Given the description of an element on the screen output the (x, y) to click on. 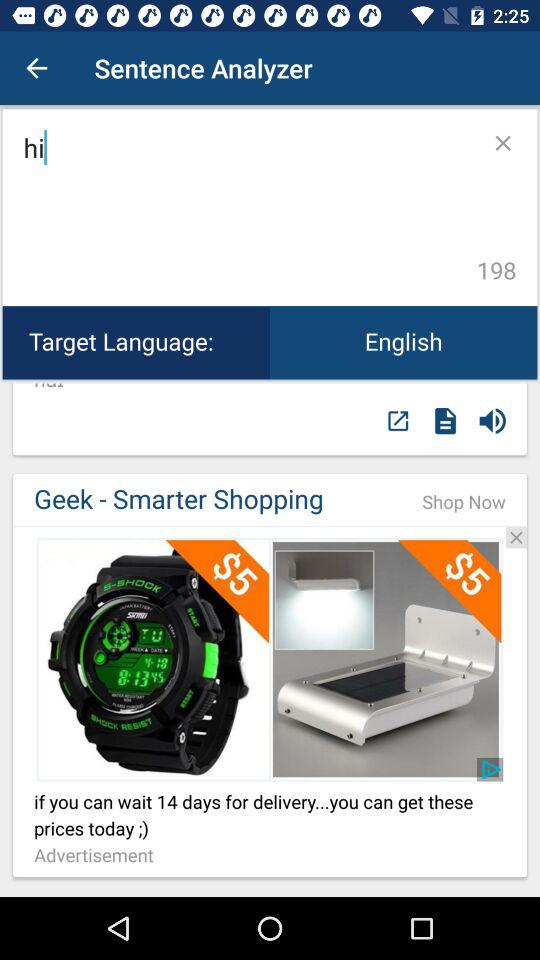
visit sponsor (269, 526)
